Given the description of an element on the screen output the (x, y) to click on. 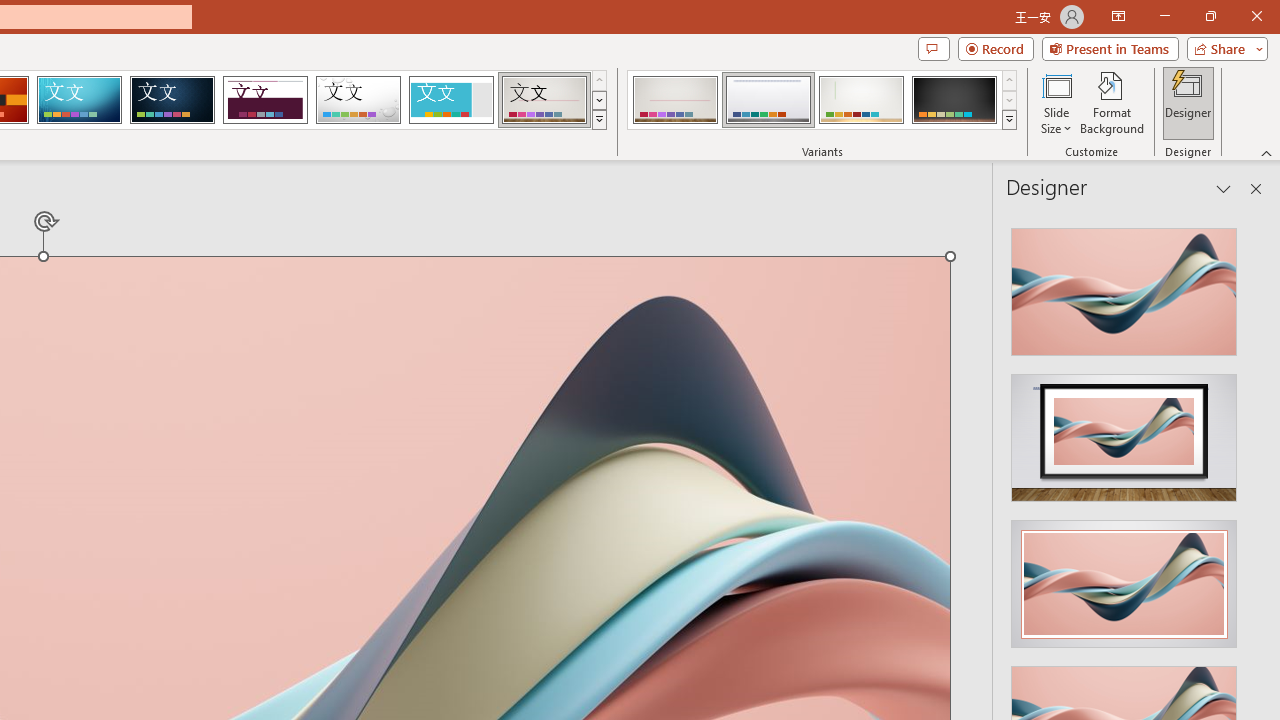
Gallery Variant 2 (768, 100)
Droplet (358, 100)
Gallery Variant 1 (674, 100)
Recommended Design: Design Idea (1124, 286)
AutomationID: ThemeVariantsGallery (822, 99)
Dividend (265, 100)
